Given the description of an element on the screen output the (x, y) to click on. 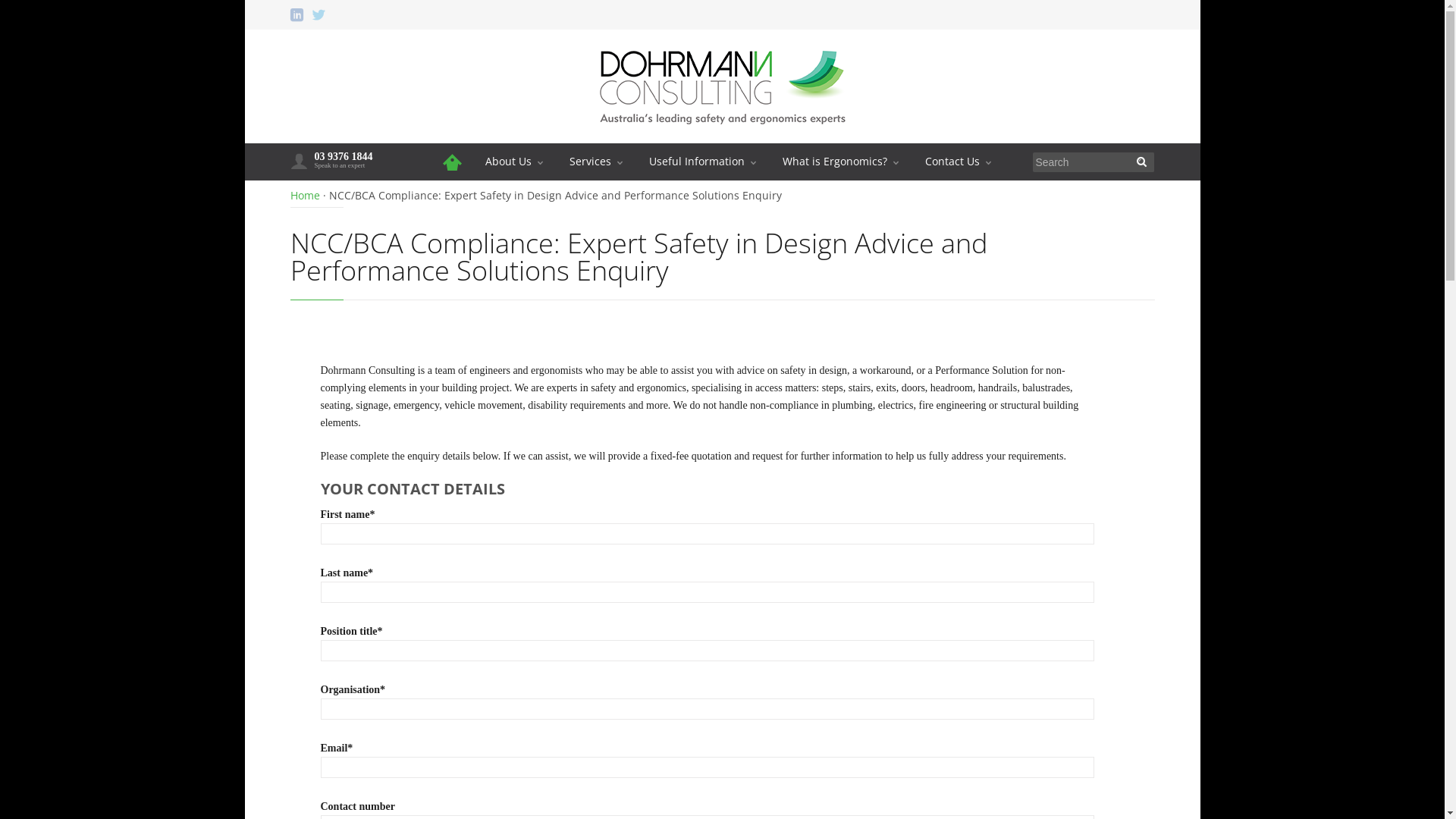
Home Element type: text (452, 161)
Useful Information Element type: text (701, 161)
What is Ergonomics? Element type: text (839, 161)
Contact Us Element type: text (957, 161)
Dohrmann Consulting Element type: hover (721, 138)
Home Element type: text (304, 195)
Skip to content Element type: text (720, 145)
Services Element type: text (595, 161)
About Us Element type: text (513, 161)
